Given the description of an element on the screen output the (x, y) to click on. 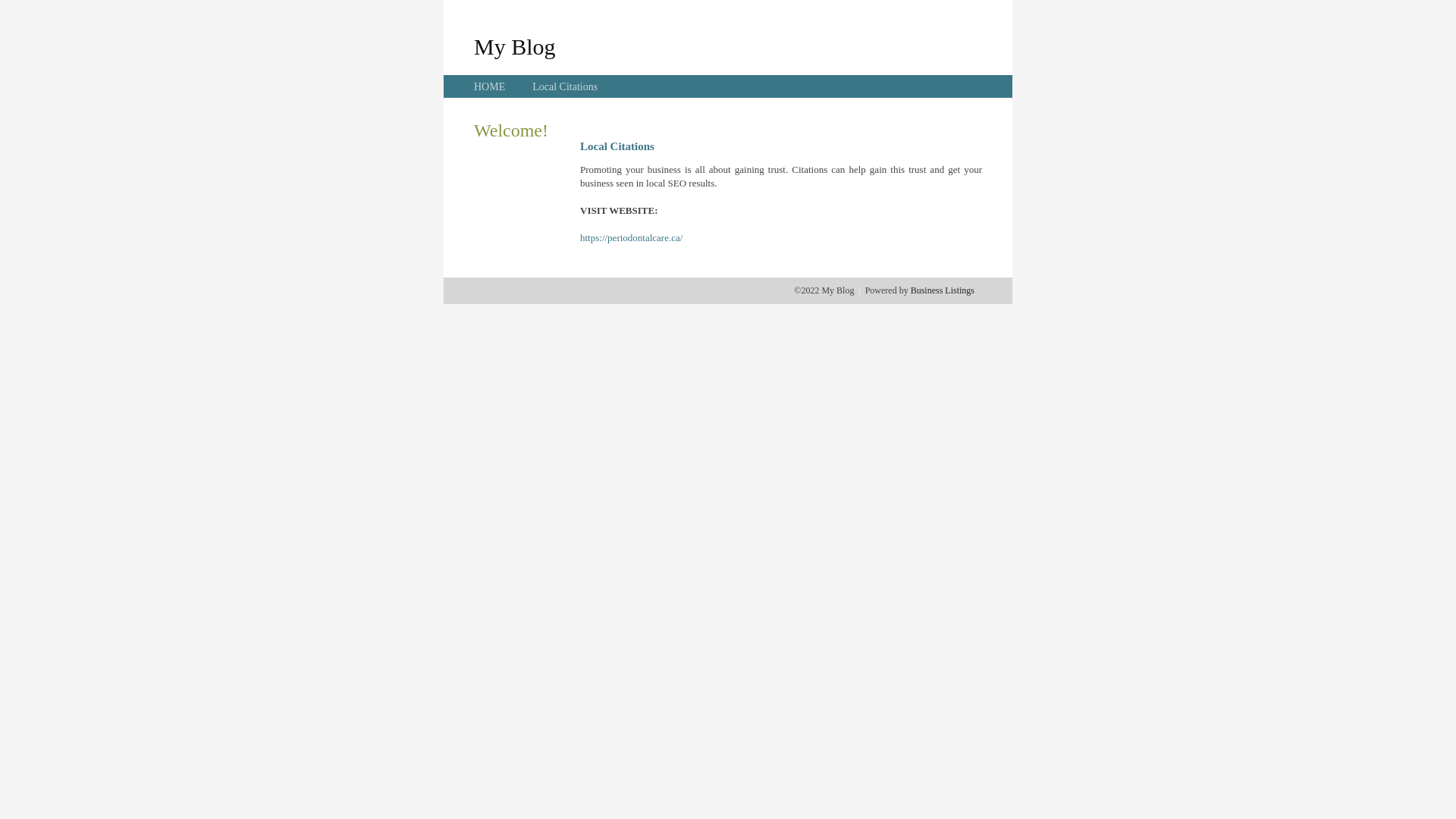
Business Listings Element type: text (942, 290)
https://periodontalcare.ca/ Element type: text (631, 237)
Local Citations Element type: text (564, 86)
My Blog Element type: text (514, 46)
HOME Element type: text (489, 86)
